Given the description of an element on the screen output the (x, y) to click on. 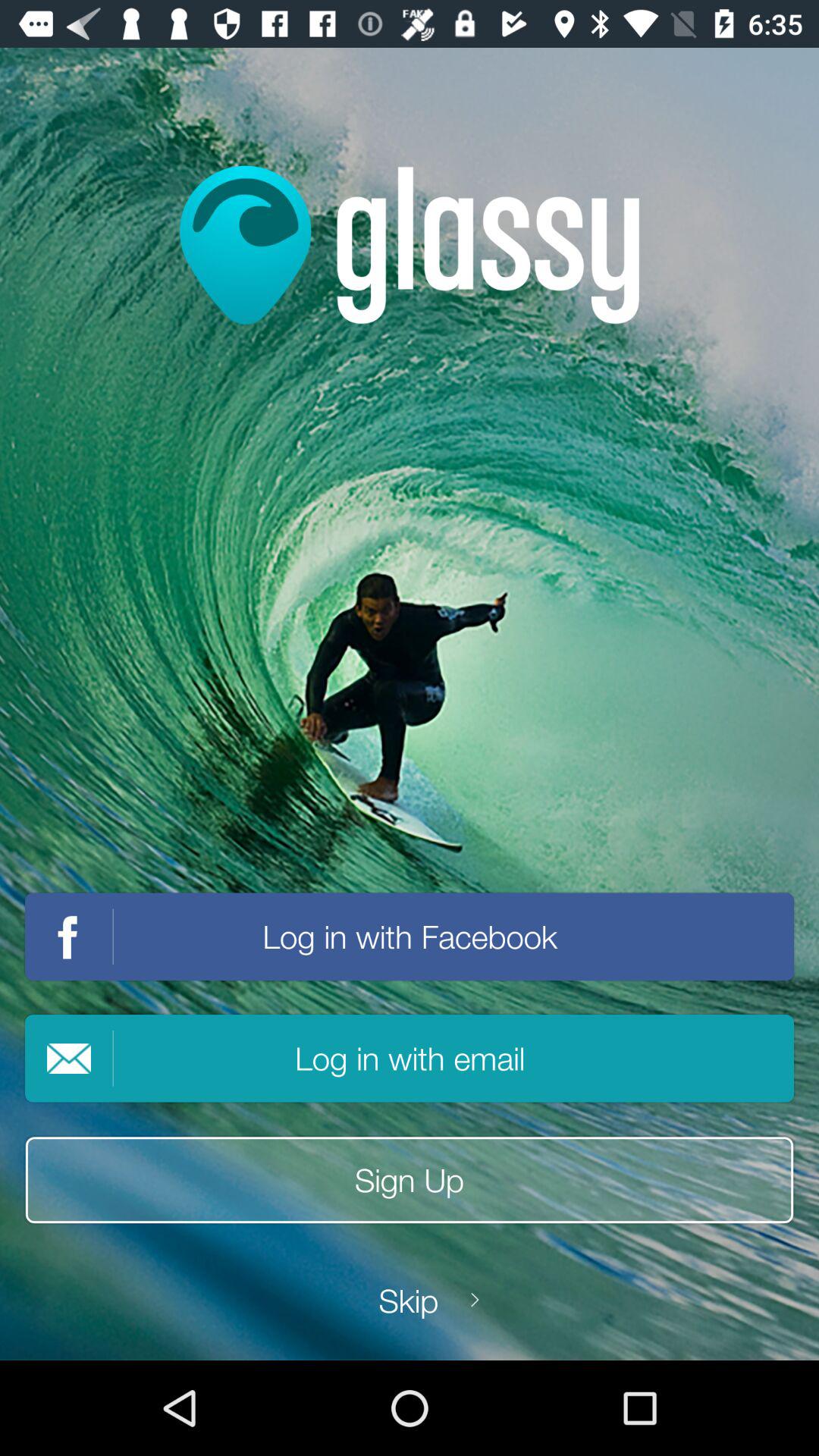
select sign up (409, 1179)
